Given the description of an element on the screen output the (x, y) to click on. 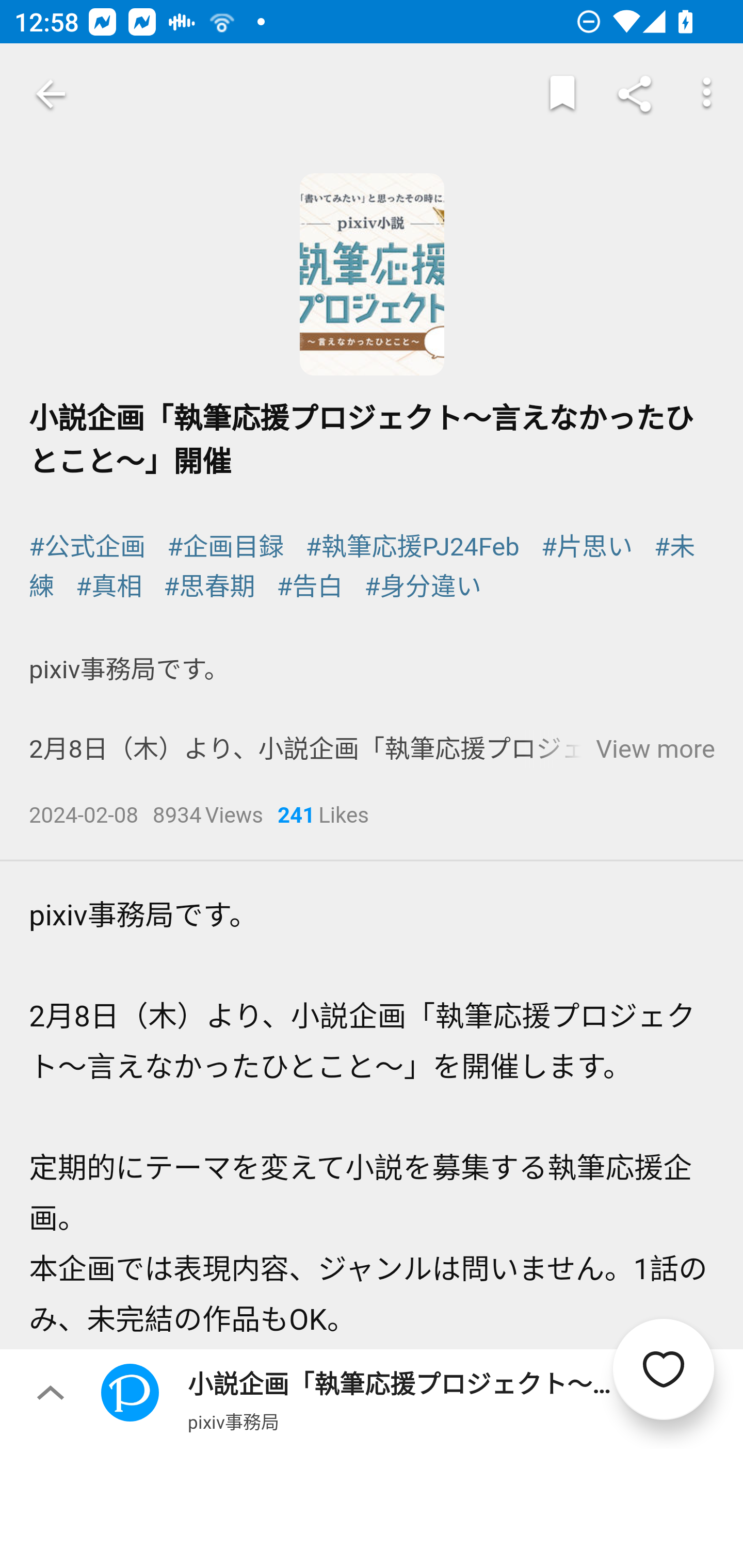
Navigate up (50, 93)
Markers (562, 93)
Share (634, 93)
More options (706, 93)
#公式企画 (87, 545)
#企画目録 (225, 545)
#執筆応援PJ24Feb (412, 545)
#片思い (586, 545)
#真相 (108, 586)
#思春期 (209, 586)
#告白 (310, 586)
#身分違い (422, 586)
View more (654, 749)
241Likes (323, 816)
pixiv事務局 (233, 1421)
